Given the description of an element on the screen output the (x, y) to click on. 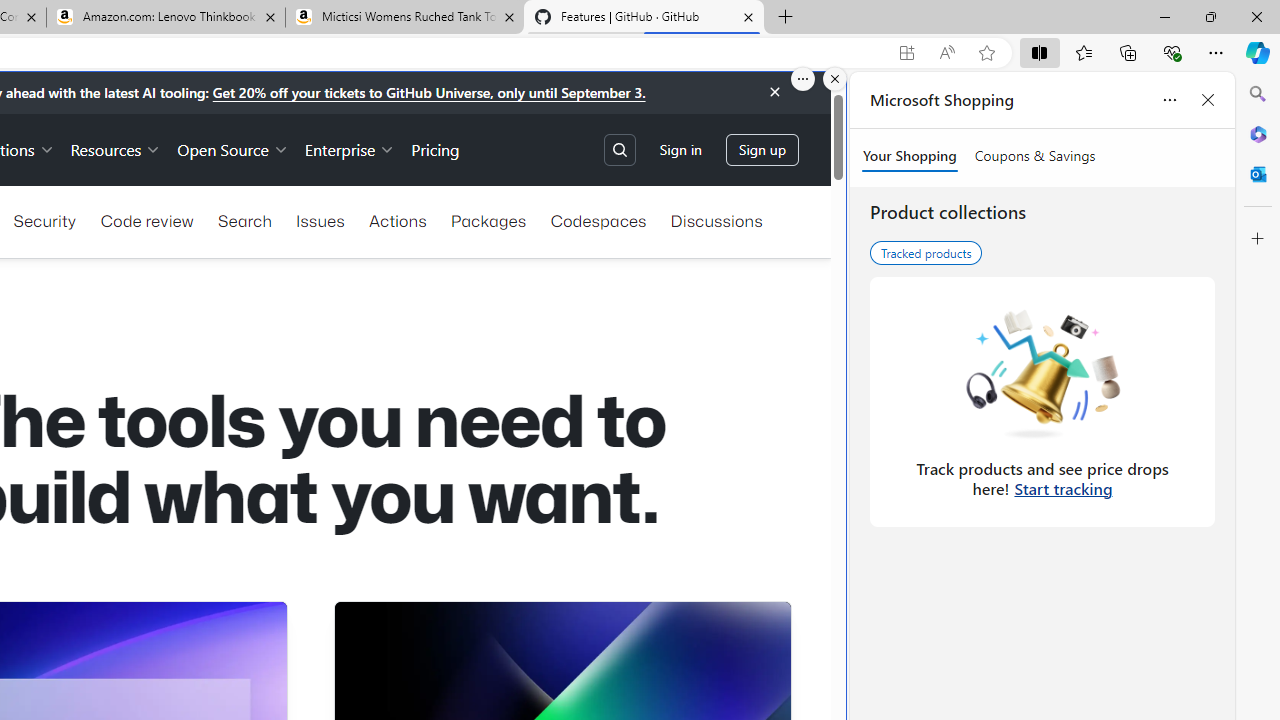
App available. Install  (906, 53)
Pricing (435, 148)
Packages (488, 220)
Open Source (232, 148)
